Given the description of an element on the screen output the (x, y) to click on. 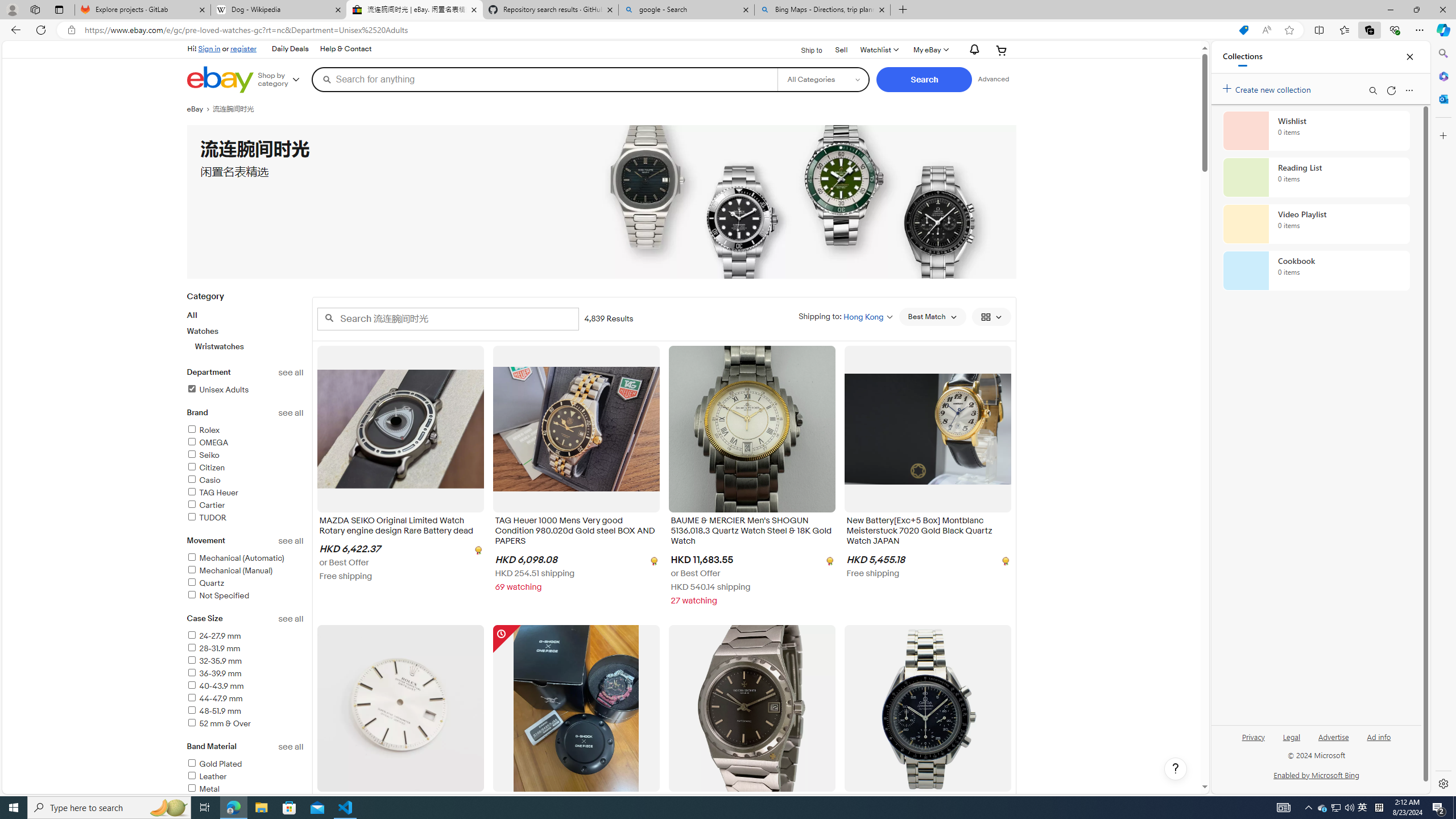
36-39.9 mm (213, 673)
See all movement refinements (291, 540)
Metal (202, 788)
Help, opens dialogs (1175, 768)
TUDOR (245, 518)
44-47.9 mm (245, 698)
Mechanical (Automatic) (245, 558)
Help & Contact (345, 49)
Citizen (205, 467)
View: Gallery View (991, 316)
